Given the description of an element on the screen output the (x, y) to click on. 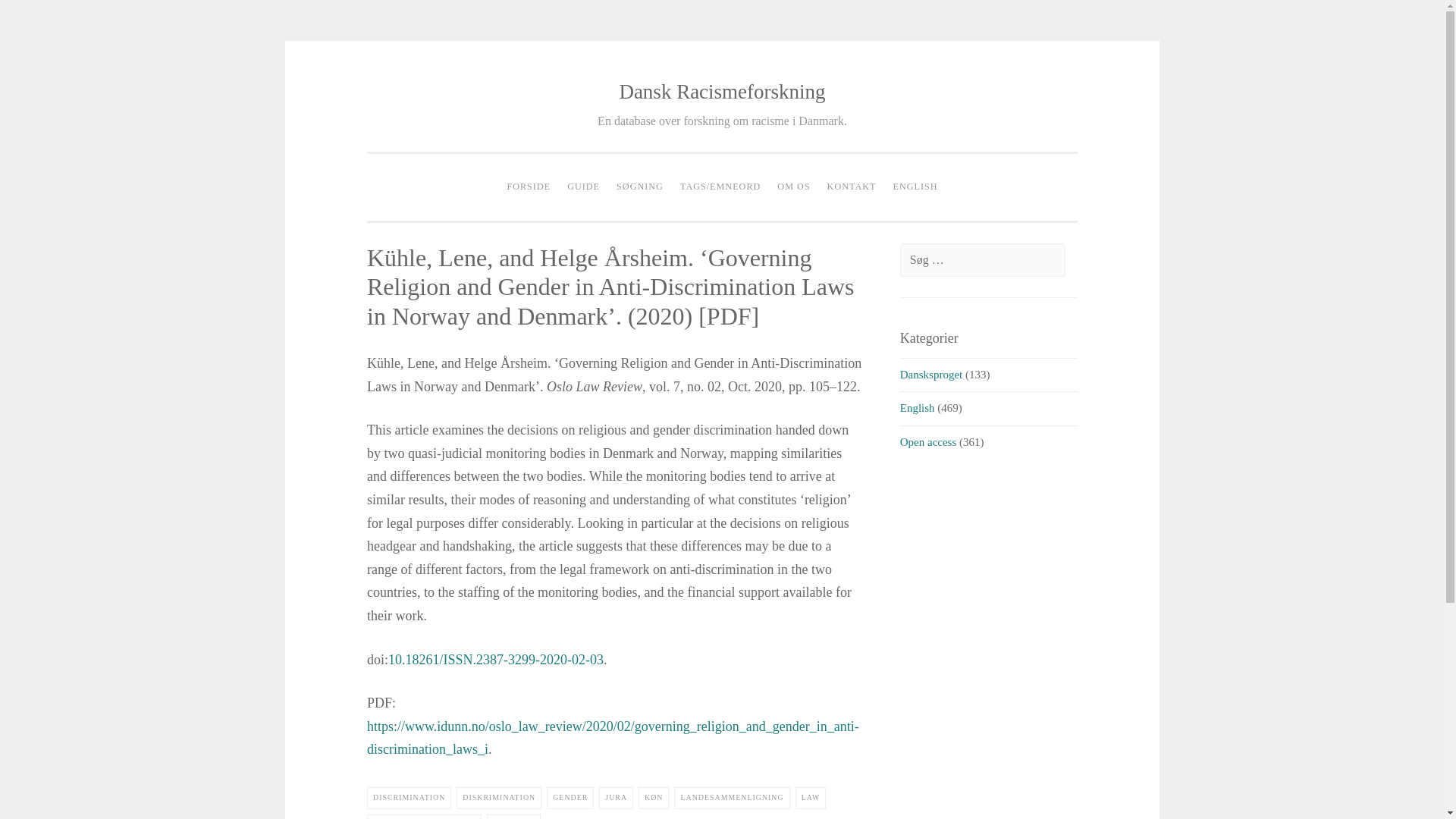
GENDER (570, 798)
GUIDE (583, 186)
Open access (927, 441)
JURA (615, 798)
RELIGION (513, 816)
NATIONAL COMPARISON (423, 816)
OM OS (793, 186)
DISKRIMINATION (499, 798)
KONTAKT (852, 186)
English (916, 408)
LANDESAMMENLIGNING (731, 798)
LAW (810, 798)
ENGLISH (915, 186)
DISCRIMINATION (408, 798)
Dansk Racismeforskning (721, 91)
